Given the description of an element on the screen output the (x, y) to click on. 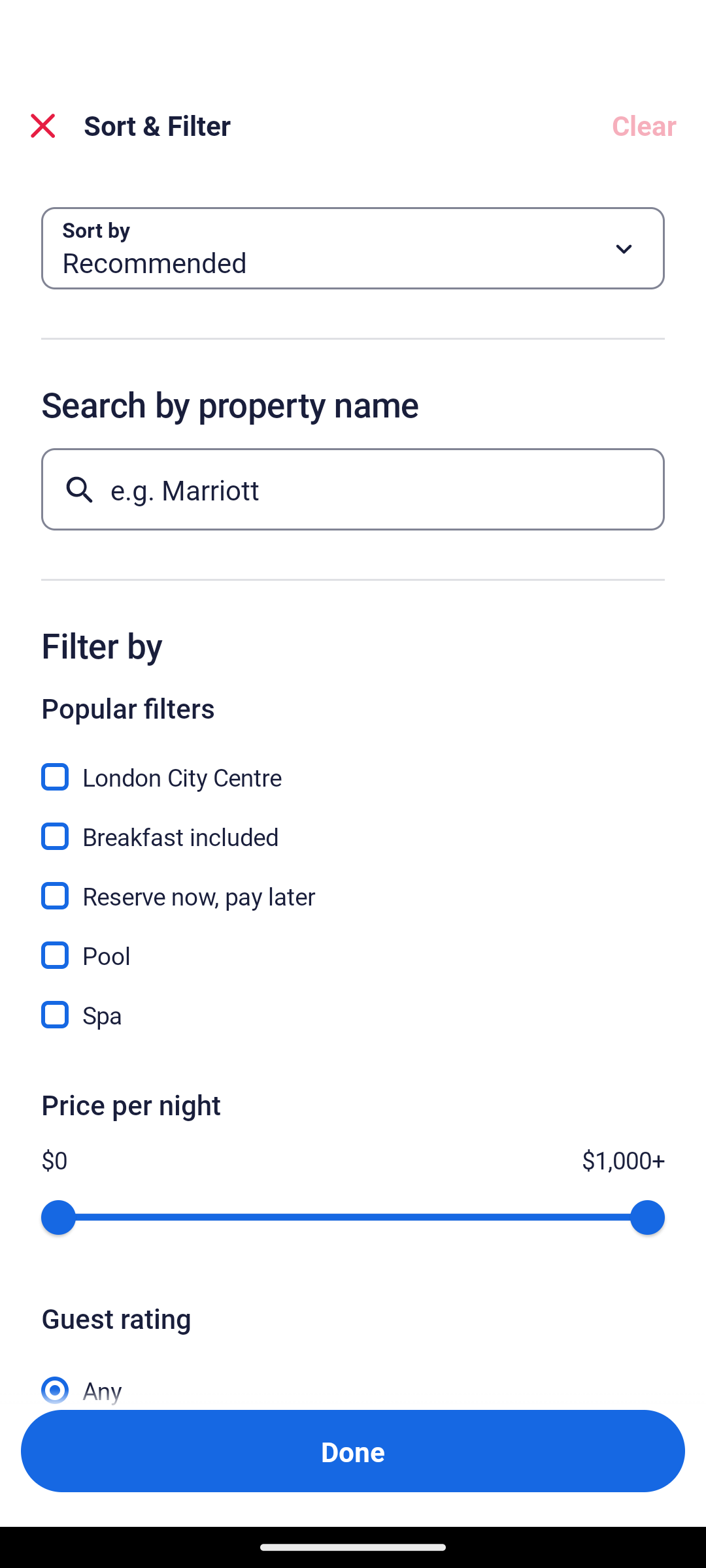
Clear (643, 125)
Close Sort and Filter (43, 125)
Sort by Button Recommended (352, 248)
e.g. Marriott Button (352, 488)
London City Centre, London City Centre (352, 765)
Breakfast included, Breakfast included (352, 824)
Reserve now, pay later, Reserve now, pay later (352, 884)
Pool, Pool (352, 943)
Spa, Spa (352, 1014)
Apply and close Sort and Filter Done (352, 1450)
